Given the description of an element on the screen output the (x, y) to click on. 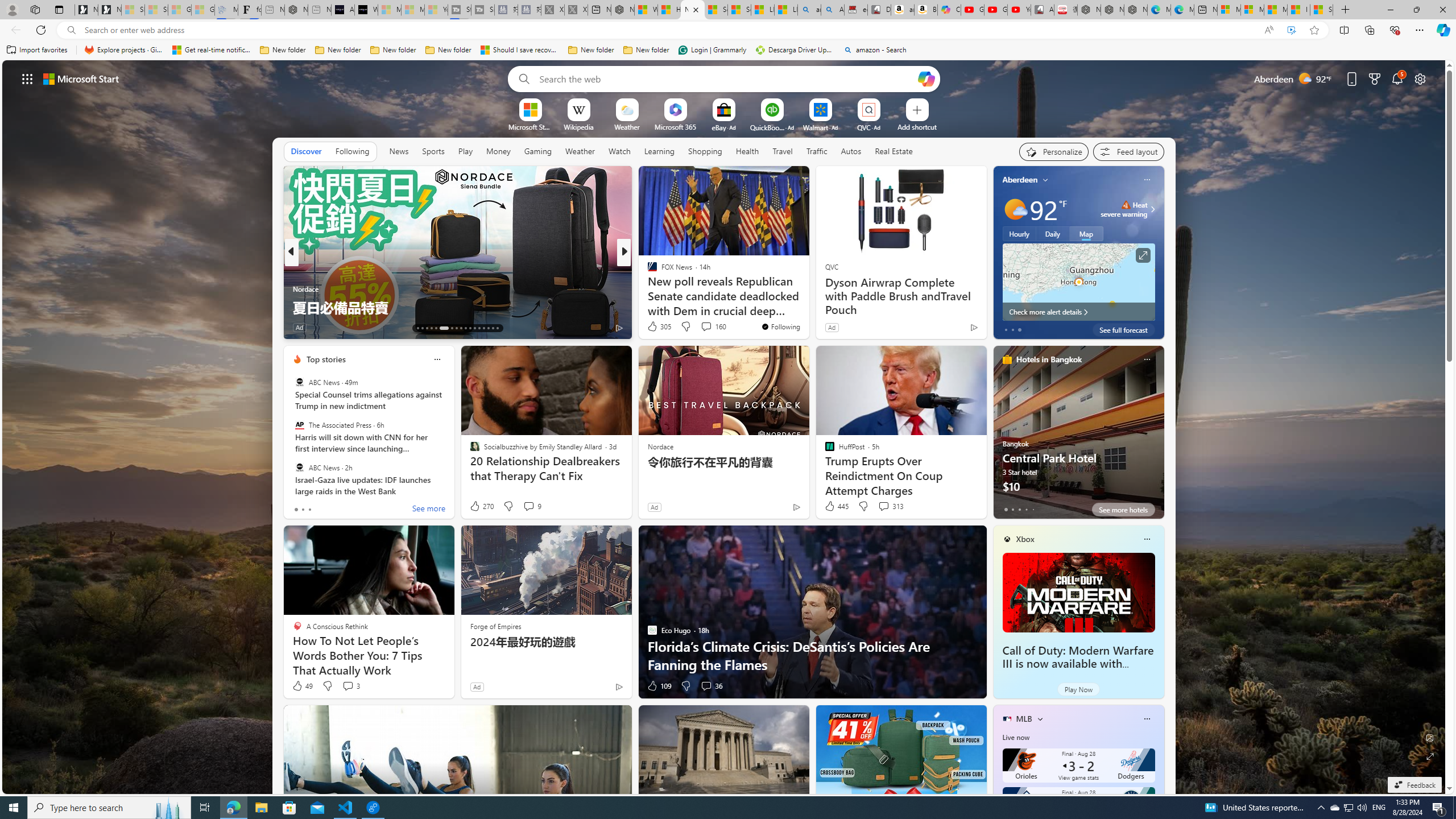
Copilot (949, 9)
tab-3 (1025, 509)
AutomationID: tab-23 (470, 328)
Hide this story (774, 179)
The Best Rowing Workout for Weight Loss (807, 307)
Search icon (70, 29)
Cents + Purpose (647, 288)
Play (465, 151)
Open Copilot (925, 78)
Watch (619, 151)
Real Estate (893, 151)
Feed settings (1128, 151)
AutomationID: waffle (27, 78)
